Given the description of an element on the screen output the (x, y) to click on. 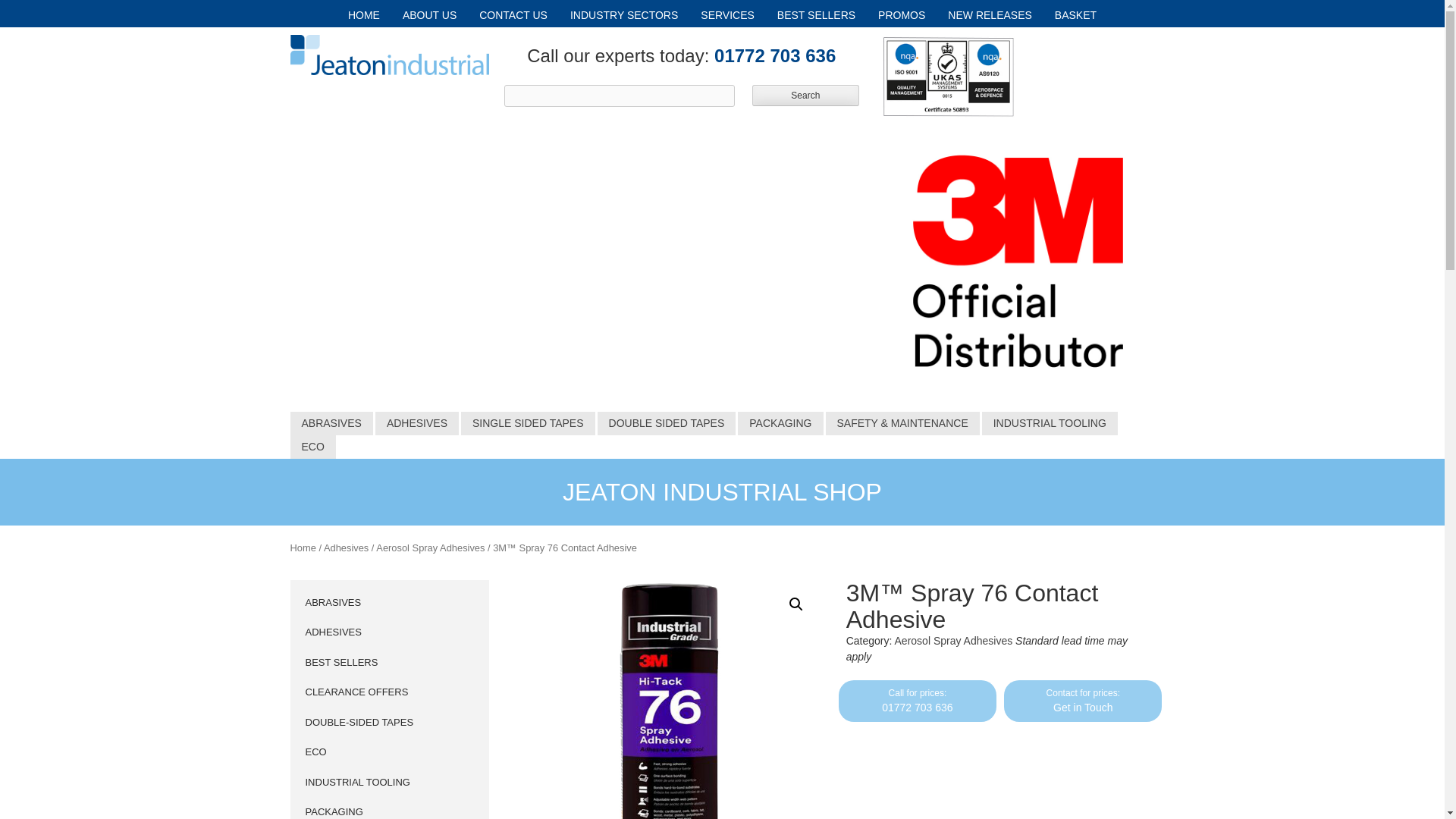
INDUSTRIAL TOOLING (1049, 423)
ECO (312, 446)
DOUBLE SIDED TAPES (666, 423)
BEST SELLERS (815, 15)
SERVICES (726, 15)
INDUSTRY SECTORS (623, 15)
Search (805, 95)
ABOUT US (429, 15)
ADHESIVES (332, 632)
BASKET (1075, 15)
ADHESIVES (416, 423)
Adhesives (345, 547)
SINGLE SIDED TAPES (527, 423)
ABRASIVES (332, 602)
PACKAGING (779, 423)
